Given the description of an element on the screen output the (x, y) to click on. 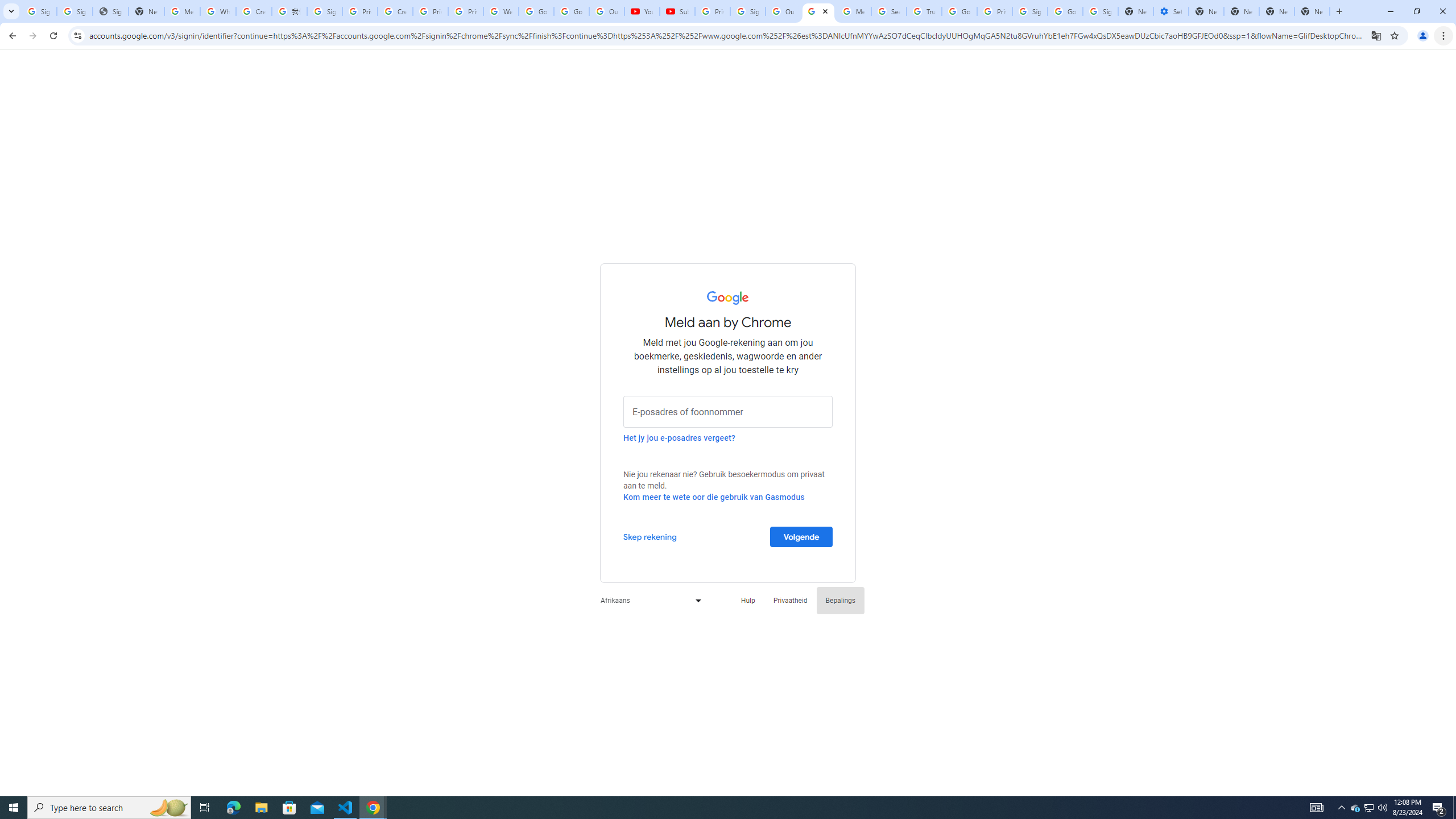
Who is my administrator? - Google Account Help (218, 11)
Sign in - Google Accounts (74, 11)
Kom meer te wete oor die gebruik van Gasmodus (713, 497)
New Tab (1312, 11)
Translate this page (1376, 35)
Search our Doodle Library Collection - Google Doodles (888, 11)
Google Ads - Sign in (959, 11)
Hulp (747, 600)
